Given the description of an element on the screen output the (x, y) to click on. 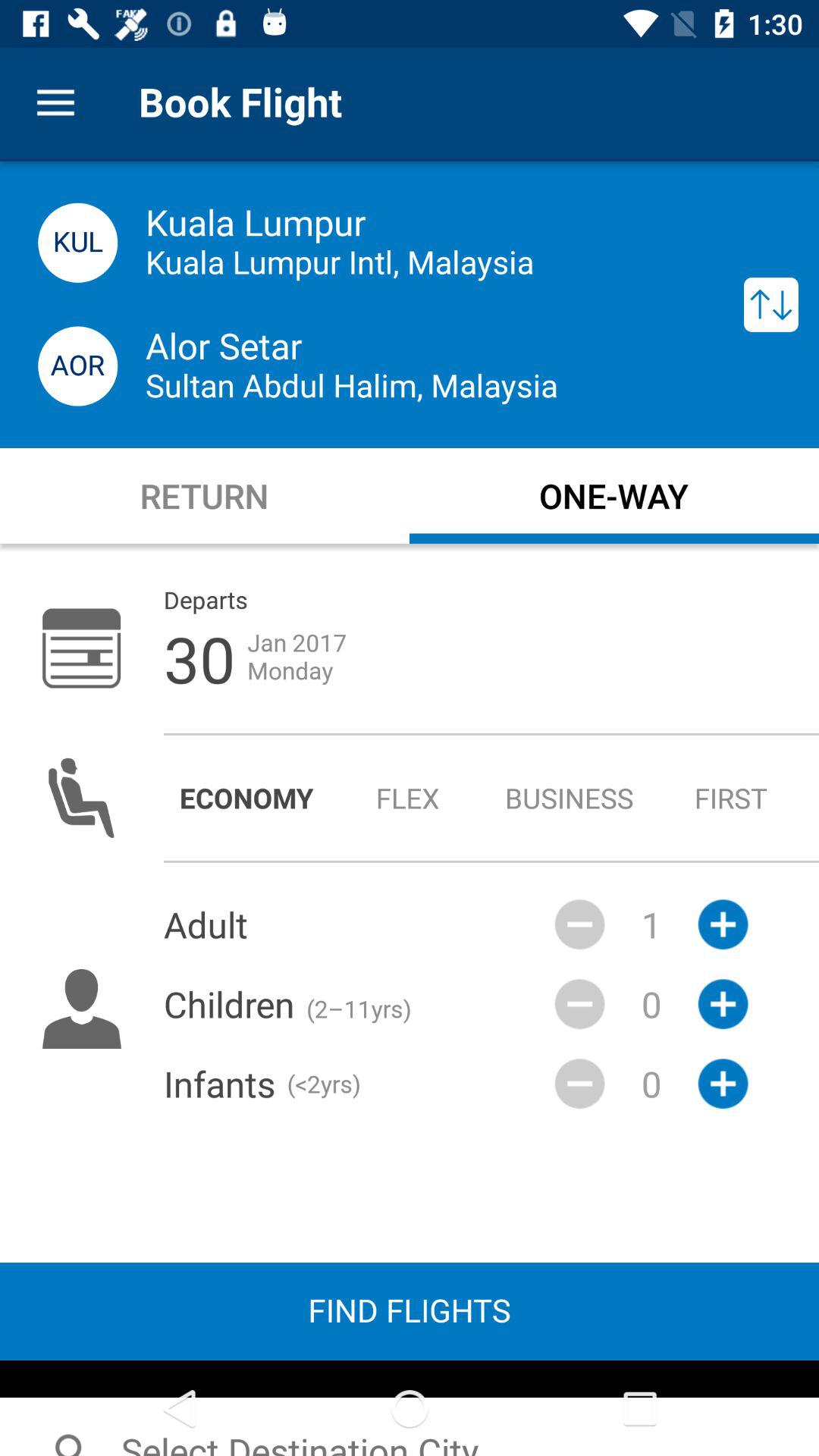
select the first (731, 797)
